Given the description of an element on the screen output the (x, y) to click on. 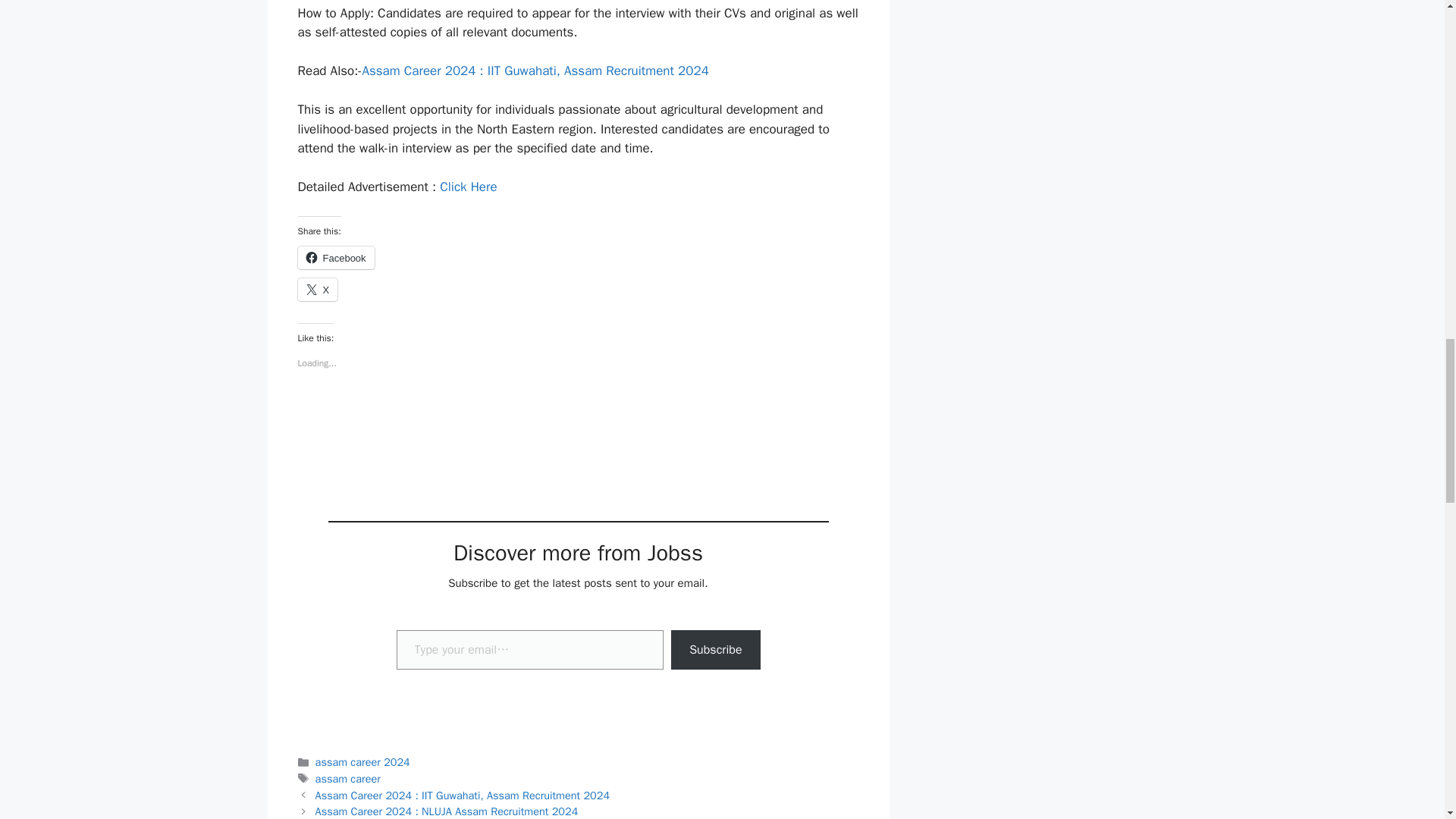
assam career 2024 (362, 762)
Assam Career 2024 : IIT Guwahati, Assam Recruitment 2024 (534, 70)
Please fill in this field. (529, 649)
Click to share on X (317, 289)
Subscribe (715, 649)
assam career (347, 778)
Click Here (467, 186)
Click to share on Facebook (335, 257)
Facebook (335, 257)
Assam Career 2024 : NLUJA Assam Recruitment 2024 (446, 811)
Like or Reblog (578, 414)
X (317, 289)
Assam Career 2024 : IIT Guwahati, Assam Recruitment 2024 (462, 795)
